Given the description of an element on the screen output the (x, y) to click on. 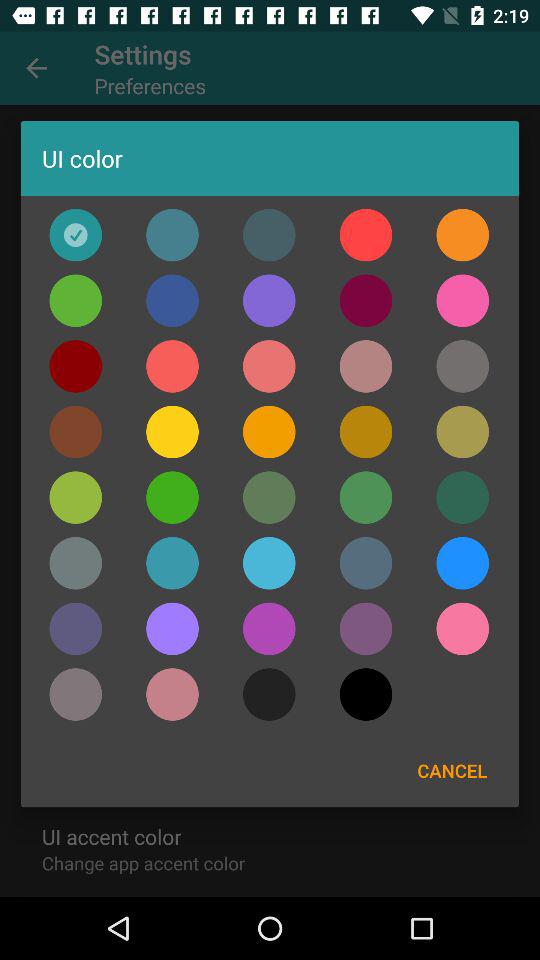
green color selection (462, 497)
